Given the description of an element on the screen output the (x, y) to click on. 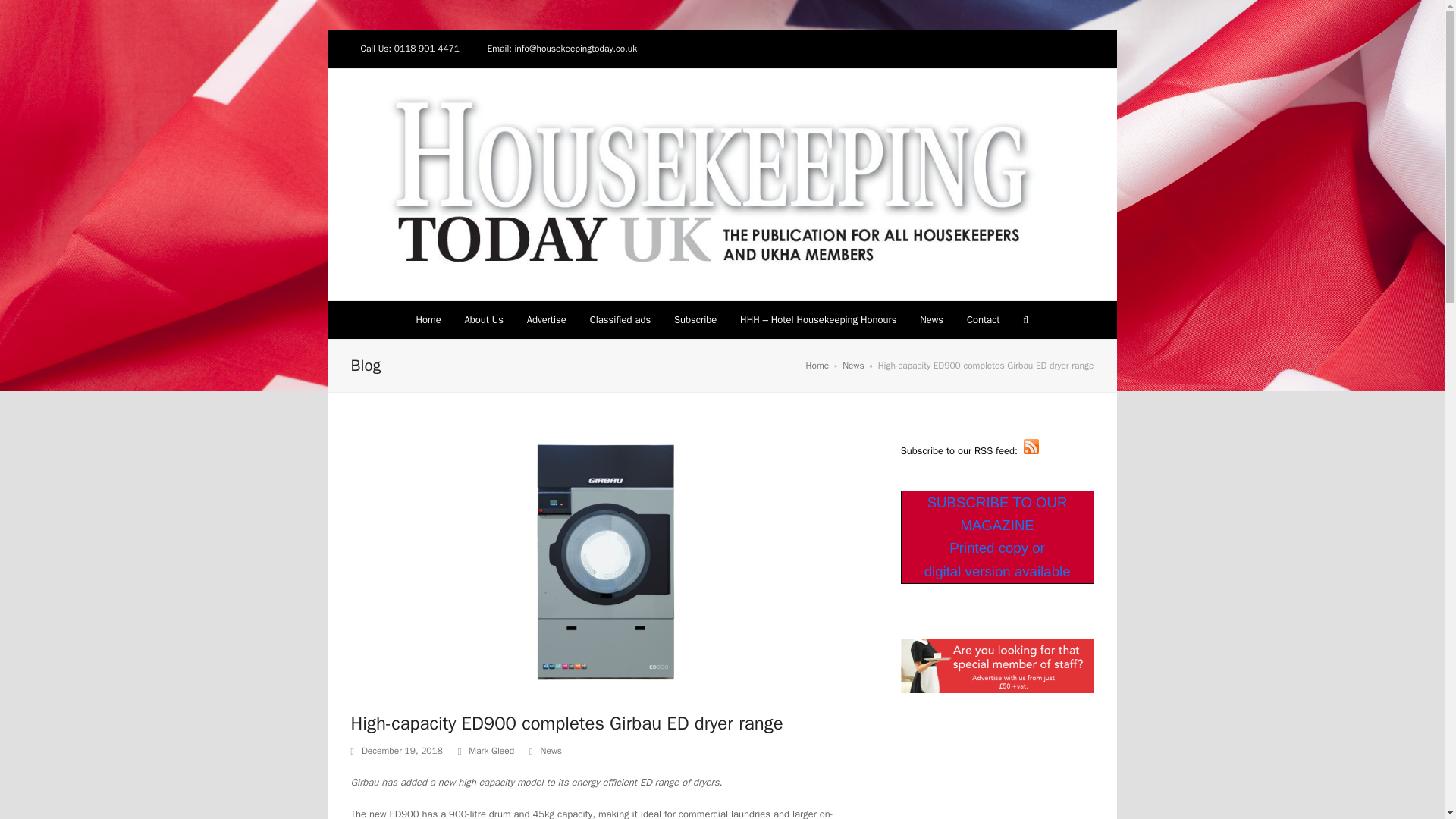
About Us (483, 320)
Mark Gleed (490, 750)
Home (817, 365)
Posts by Mark Gleed (490, 750)
Subscribe (695, 320)
Contact (983, 320)
Home (428, 320)
News (931, 320)
Classified ads (620, 320)
News (551, 750)
